Given the description of an element on the screen output the (x, y) to click on. 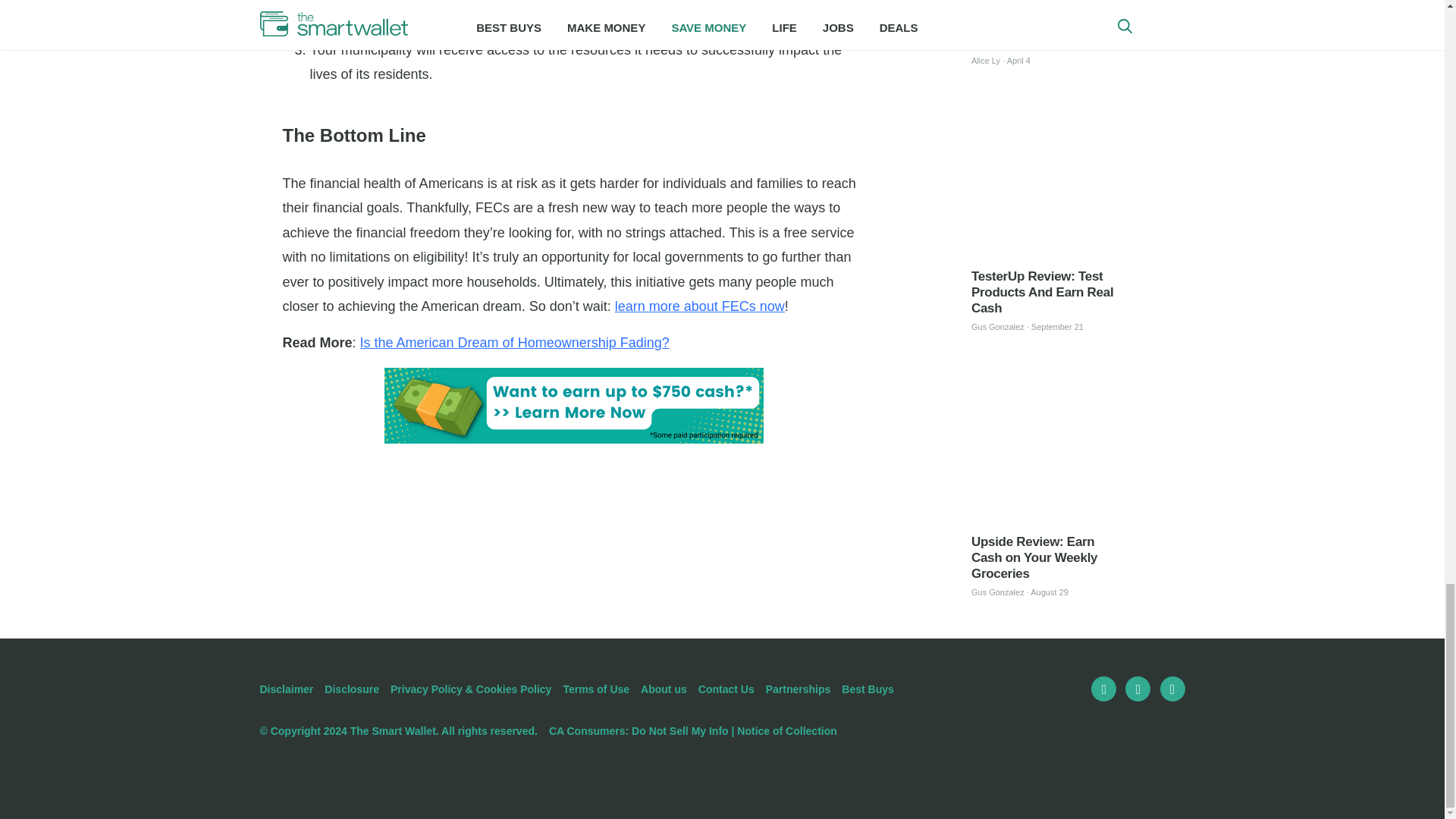
Is the American Dream of Homeownership Fading? (514, 342)
Facebook (1103, 689)
learn more about FECs now (699, 305)
